Given the description of an element on the screen output the (x, y) to click on. 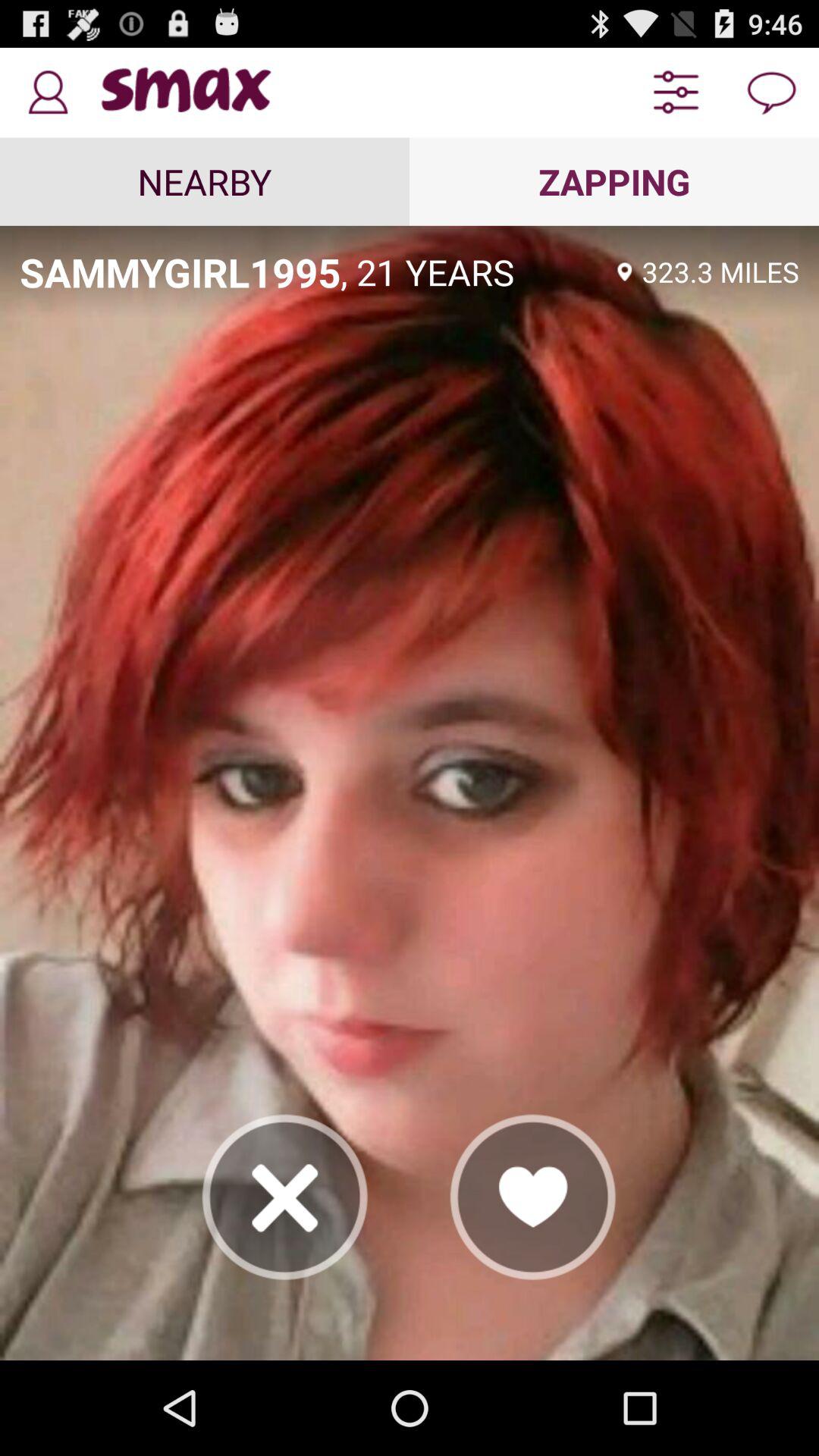
tap item below the , 21 years (533, 1196)
